Given the description of an element on the screen output the (x, y) to click on. 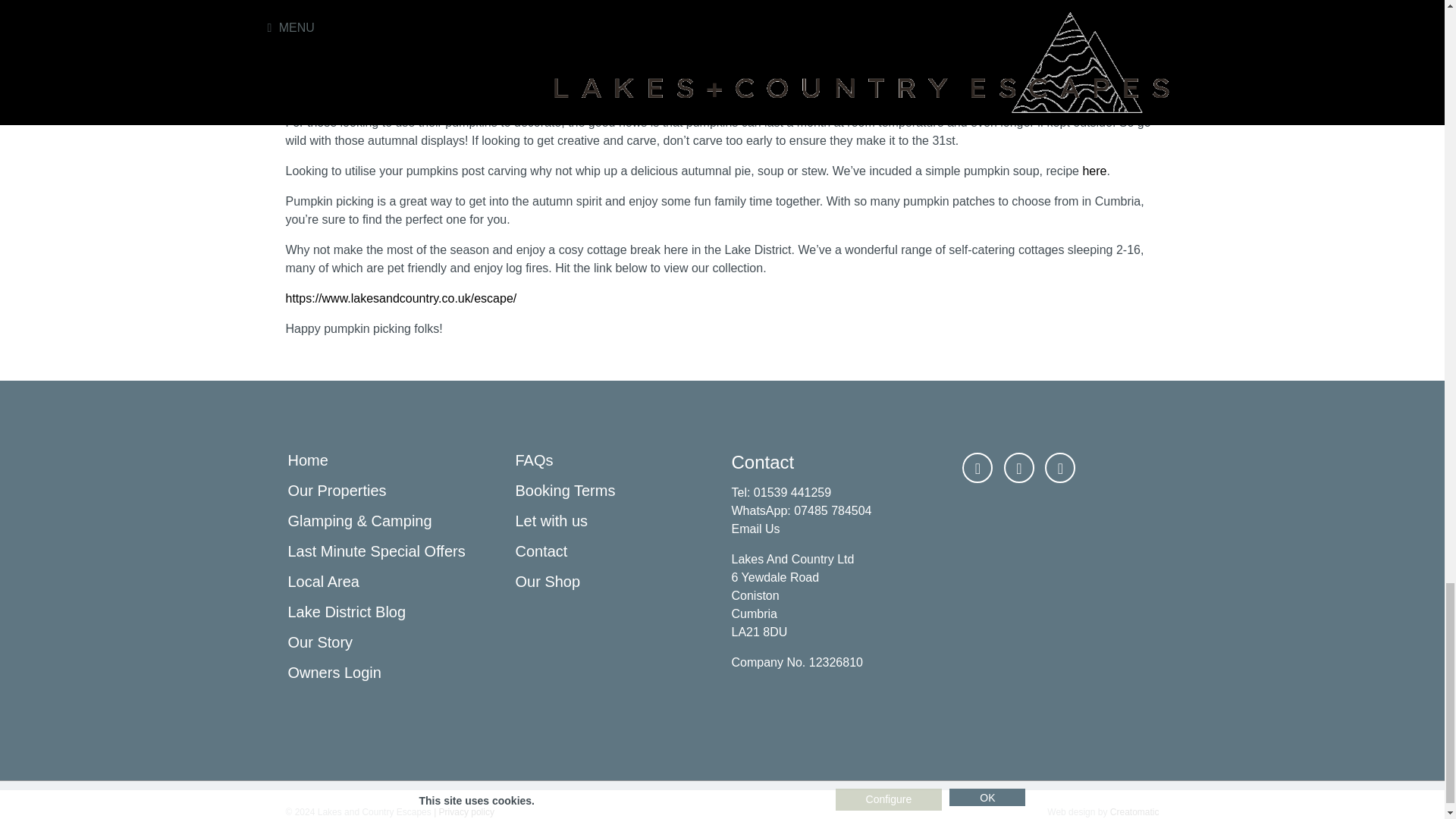
Creatomatic (1133, 811)
